Given the description of an element on the screen output the (x, y) to click on. 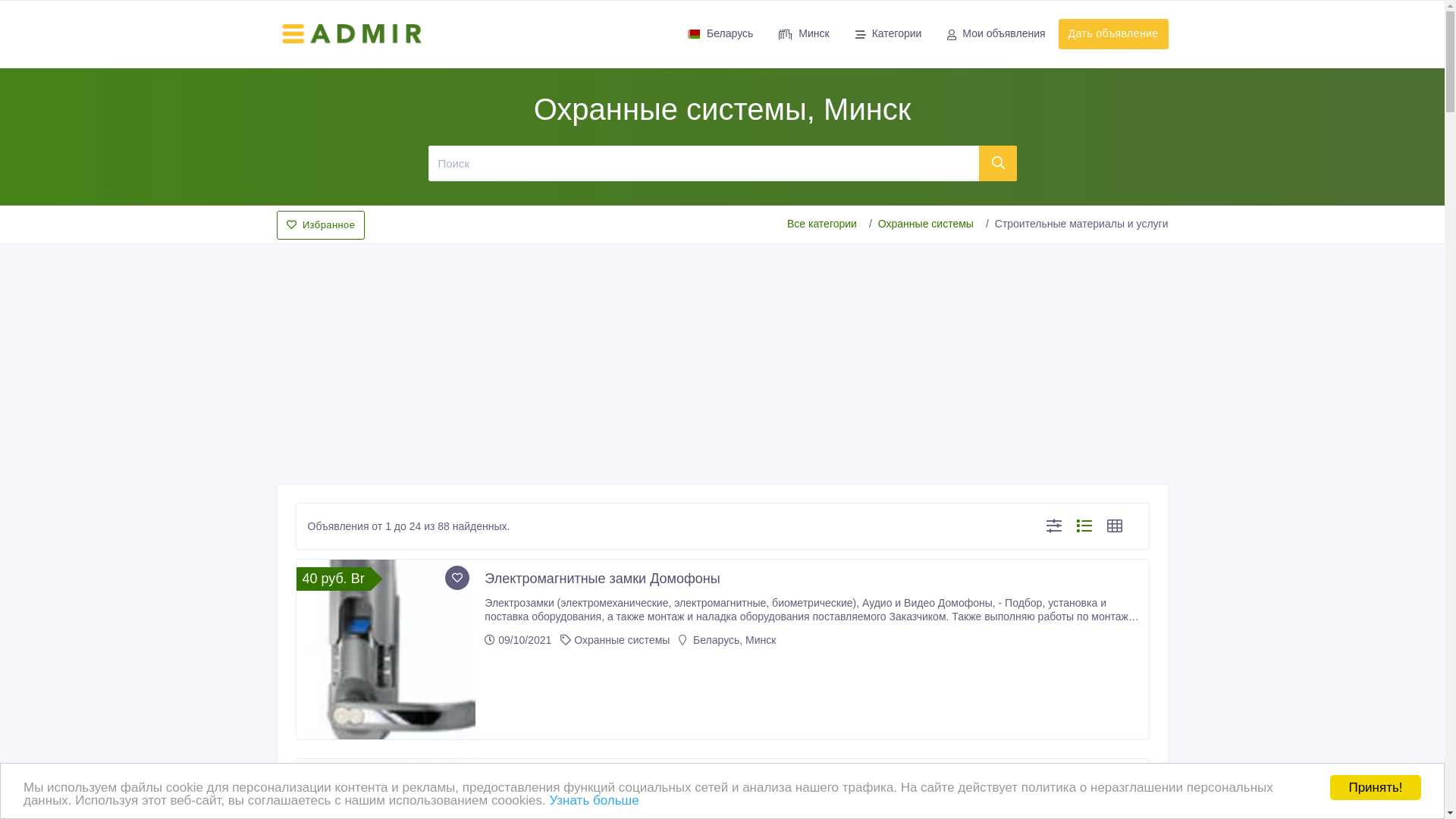
Add to favorite Element type: hover (457, 777)
Add to favorite Element type: hover (457, 577)
Advertisement Element type: hover (721, 359)
